Given the description of an element on the screen output the (x, y) to click on. 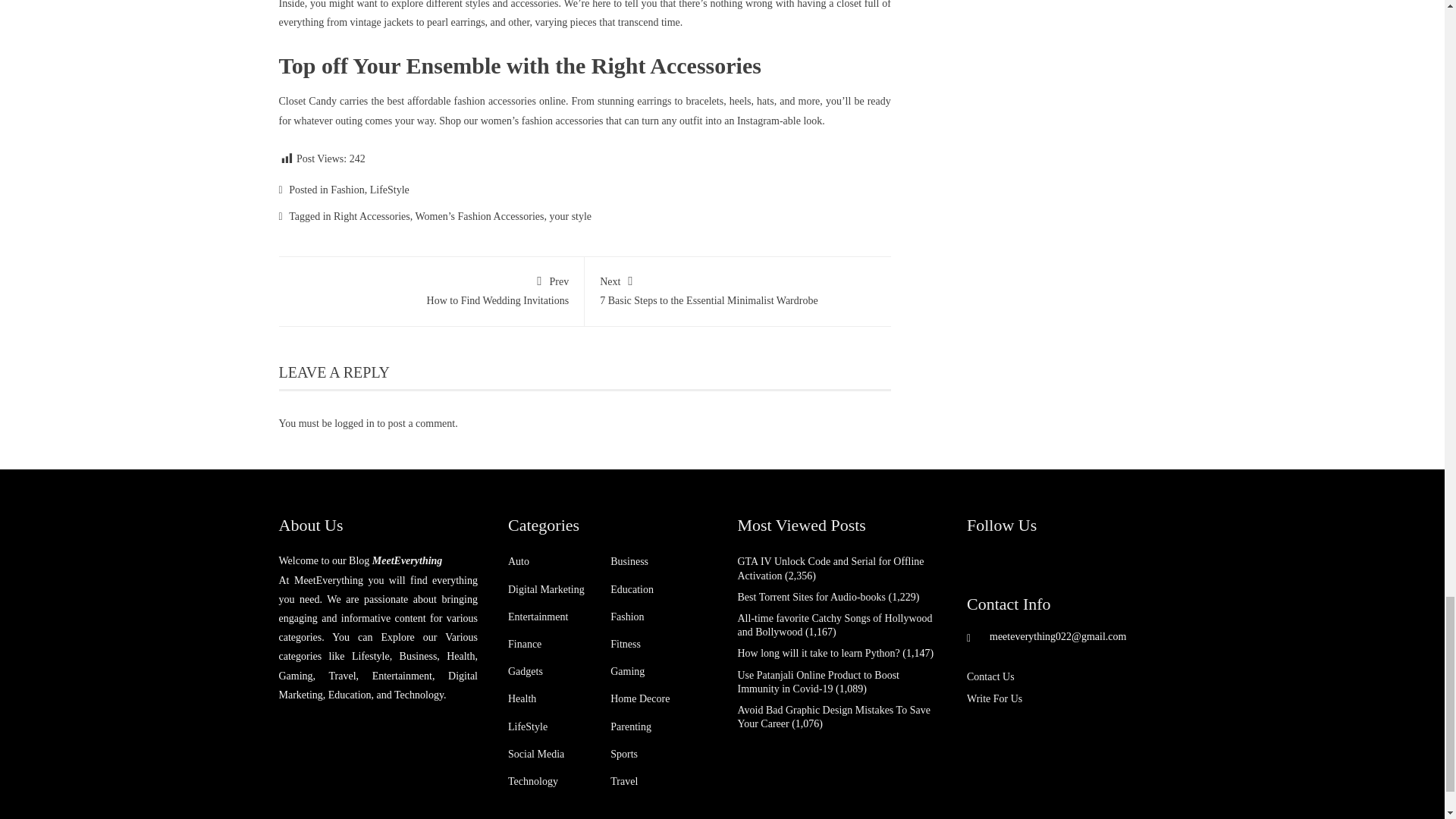
Fashion (347, 189)
LifeStyle (389, 189)
Right Accessories (371, 215)
your style (569, 215)
